Given the description of an element on the screen output the (x, y) to click on. 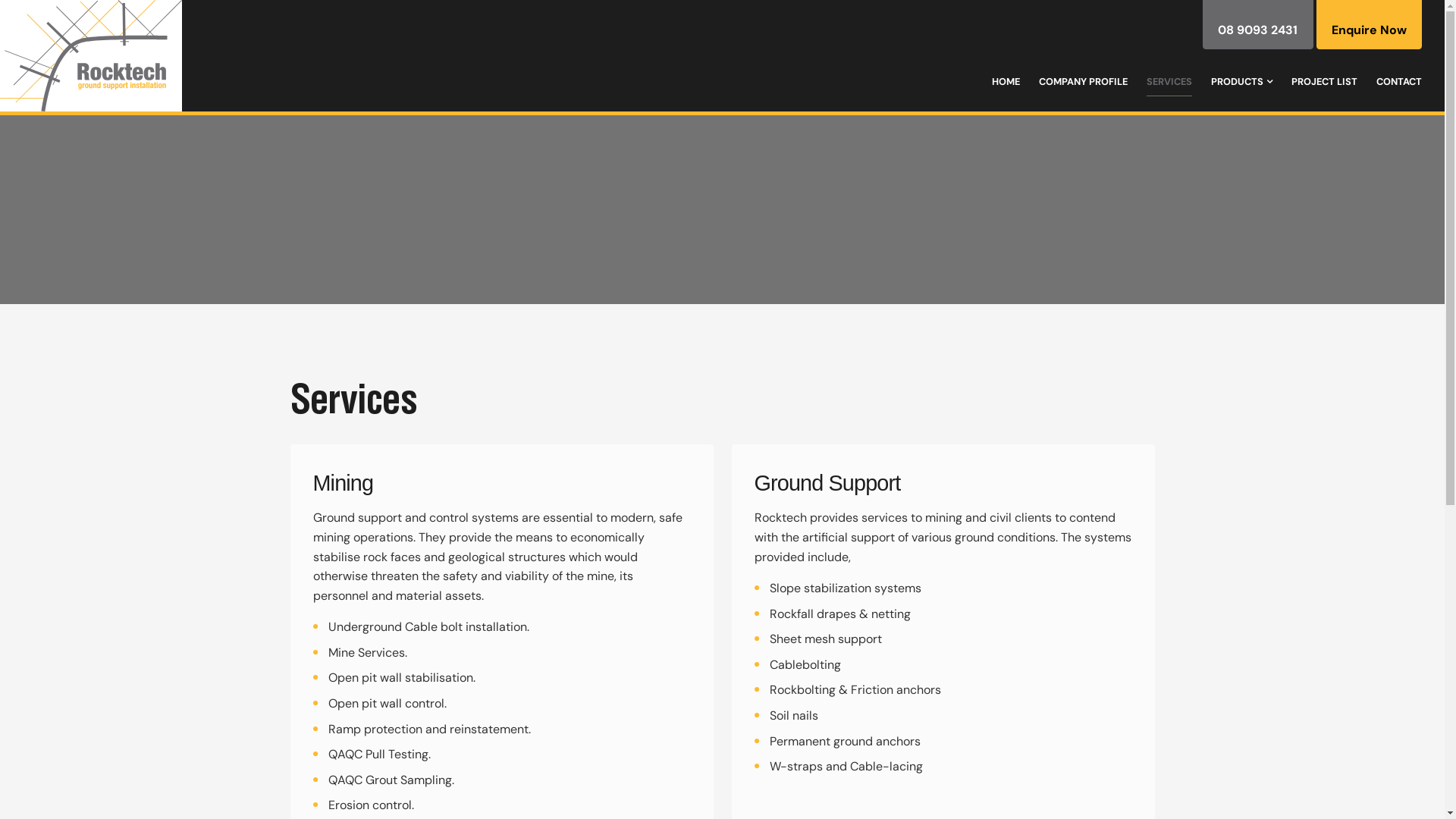
SERVICES Element type: text (1169, 82)
HOME Element type: text (1005, 82)
PRODUCTS Element type: text (1241, 82)
PROJECT LIST Element type: text (1324, 82)
COMPANY PROFILE Element type: text (1082, 82)
CONTACT Element type: text (1398, 82)
